Given the description of an element on the screen output the (x, y) to click on. 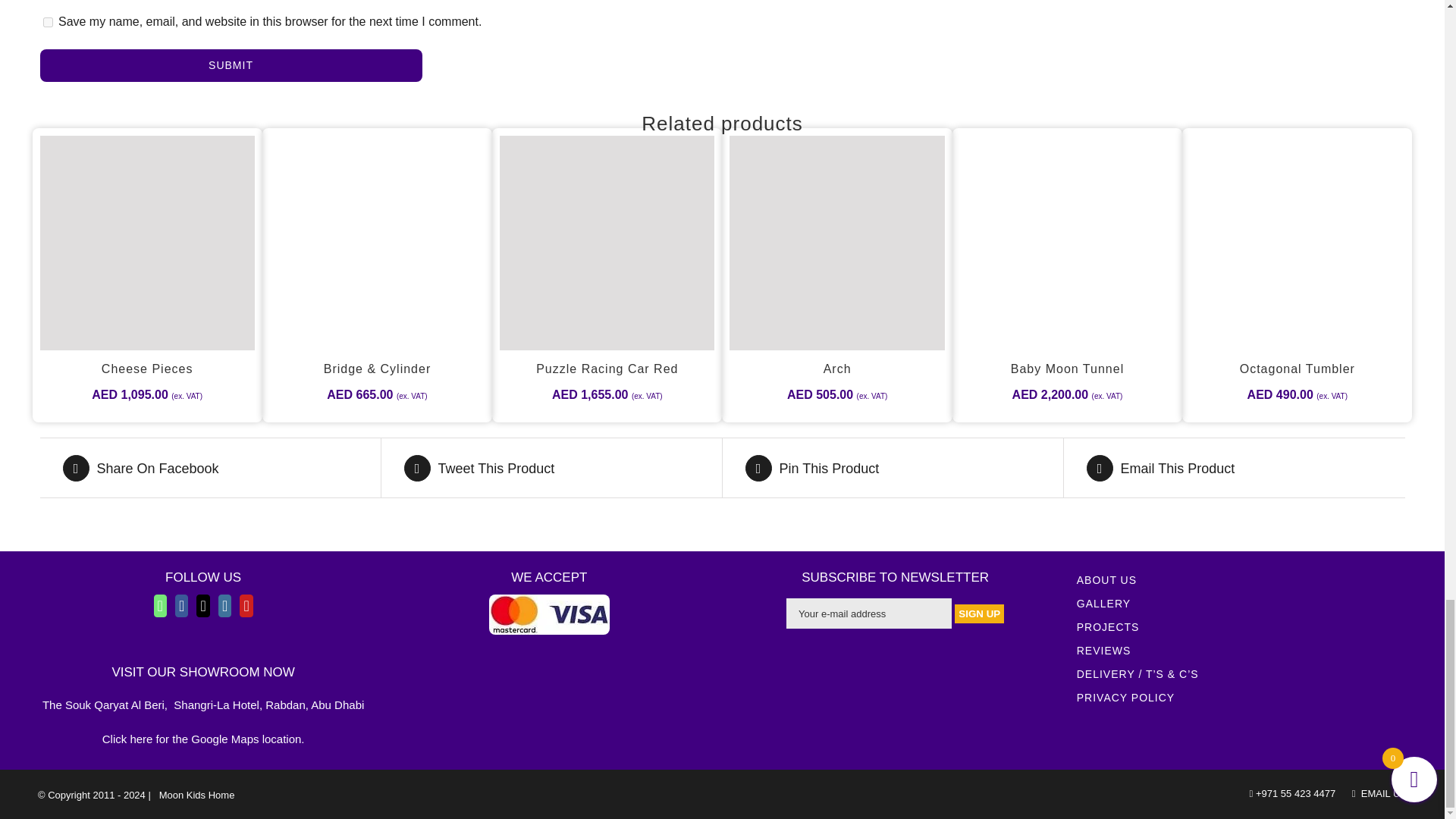
yes (47, 22)
Submit (230, 65)
SIGN UP (979, 613)
